Given the description of an element on the screen output the (x, y) to click on. 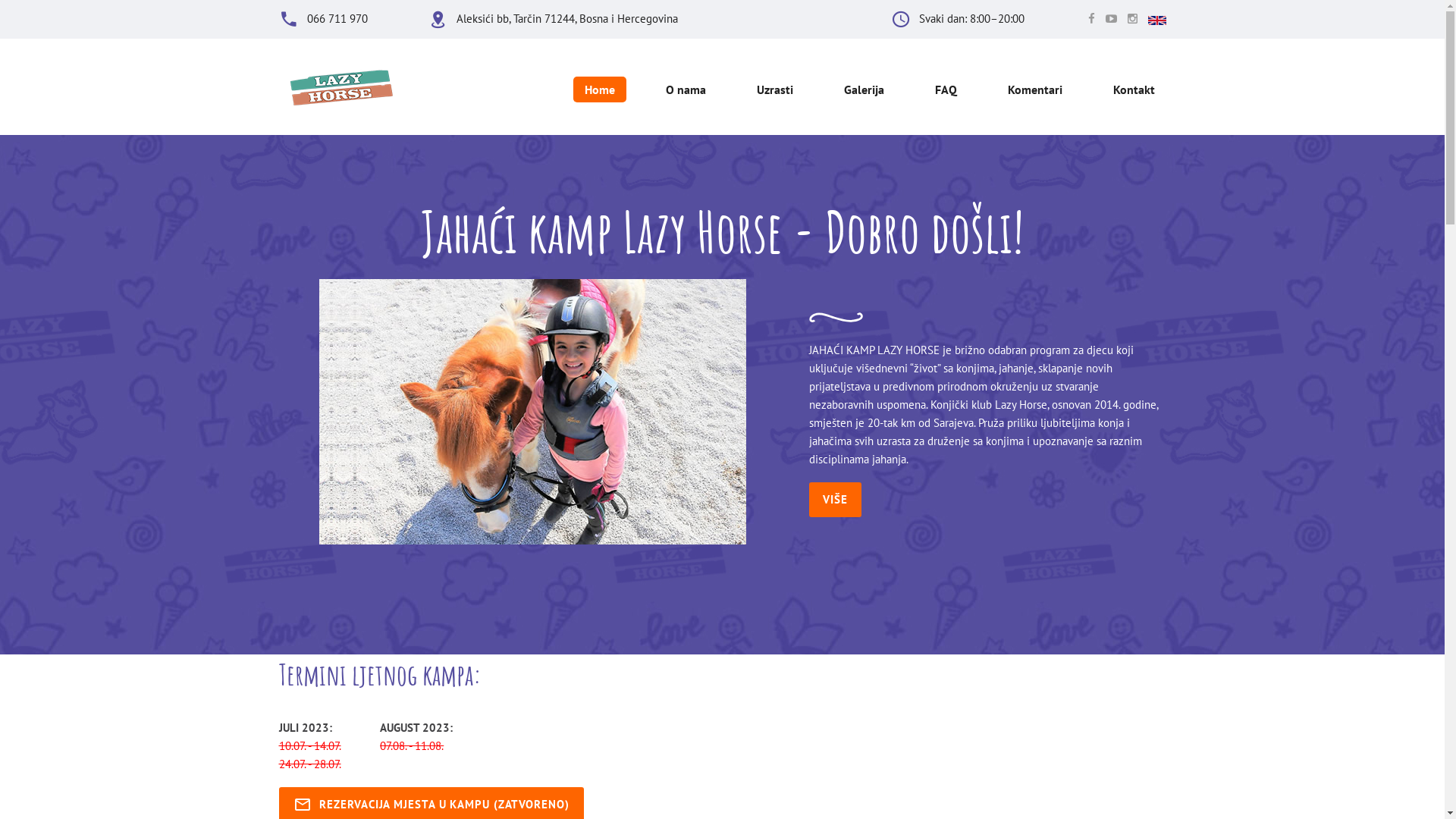
FAQ Element type: text (945, 89)
Jahaci kamp Lazy Horse Element type: hover (532, 411)
Uzrasti Element type: text (773, 89)
O nama Element type: text (684, 89)
Kontakt Element type: text (1133, 89)
066 711 970 Element type: text (336, 18)
Komentari Element type: text (1034, 89)
Galerija Element type: text (863, 89)
Home Element type: text (599, 89)
